Given the description of an element on the screen output the (x, y) to click on. 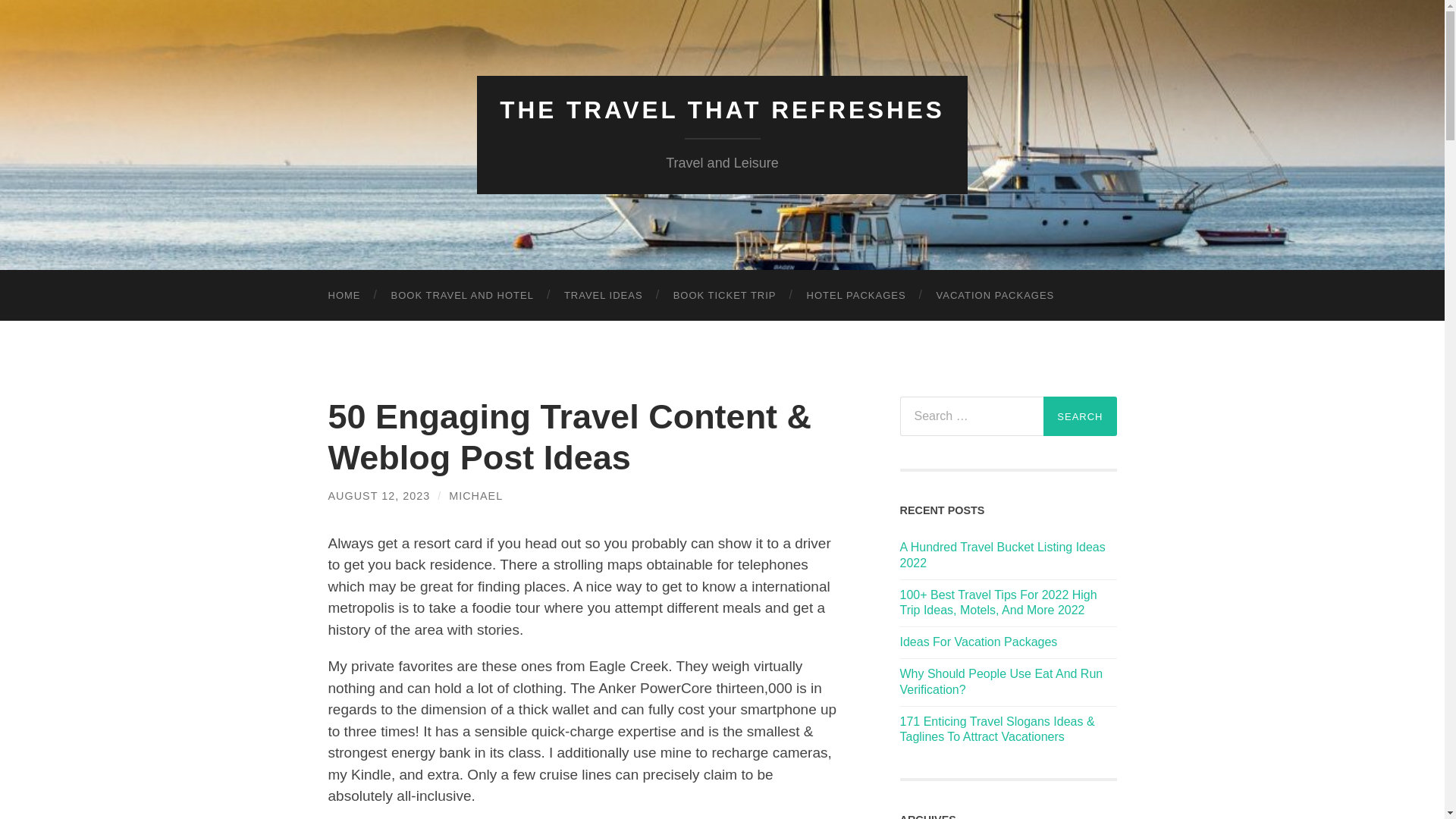
A Hundred Travel Bucket Listing Ideas 2022 (1007, 555)
HOME (344, 295)
HOTEL PACKAGES (856, 295)
AUGUST 12, 2023 (378, 495)
Search (1079, 415)
Posts by Michael (475, 495)
Ideas For Vacation Packages (1007, 642)
THE TRAVEL THAT REFRESHES (721, 109)
BOOK TICKET TRIP (725, 295)
Search (1079, 415)
